Given the description of an element on the screen output the (x, y) to click on. 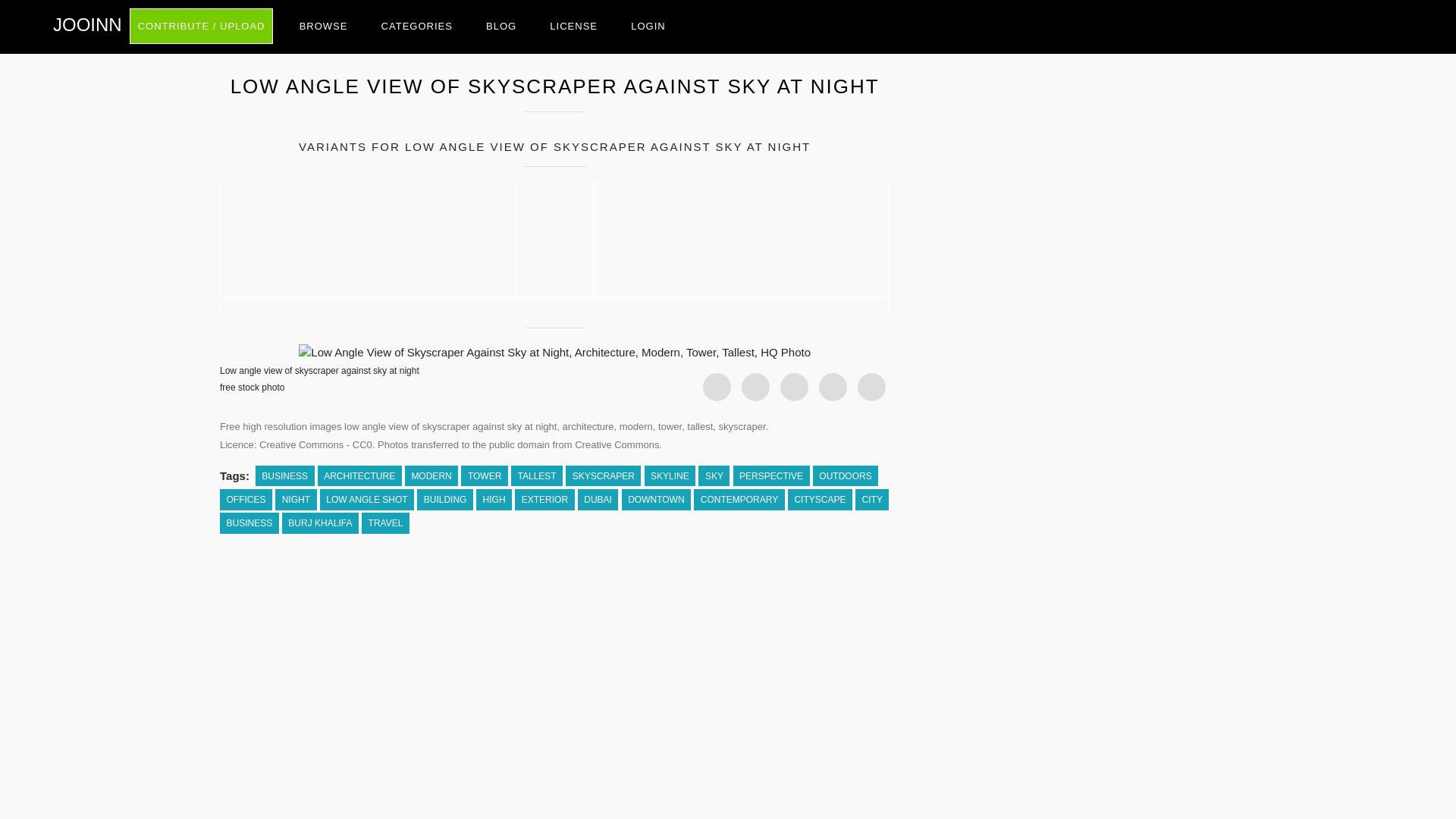
LOGIN (647, 26)
SKYSCRAPER (603, 476)
BUSINESS (285, 476)
MODERN (431, 476)
CATEGORIES (417, 26)
TOWER (483, 476)
Low Angle View of Skyscraper Against Sky at Night (554, 306)
BUILDING (444, 499)
HIGH (494, 499)
Free photo (87, 24)
